Given the description of an element on the screen output the (x, y) to click on. 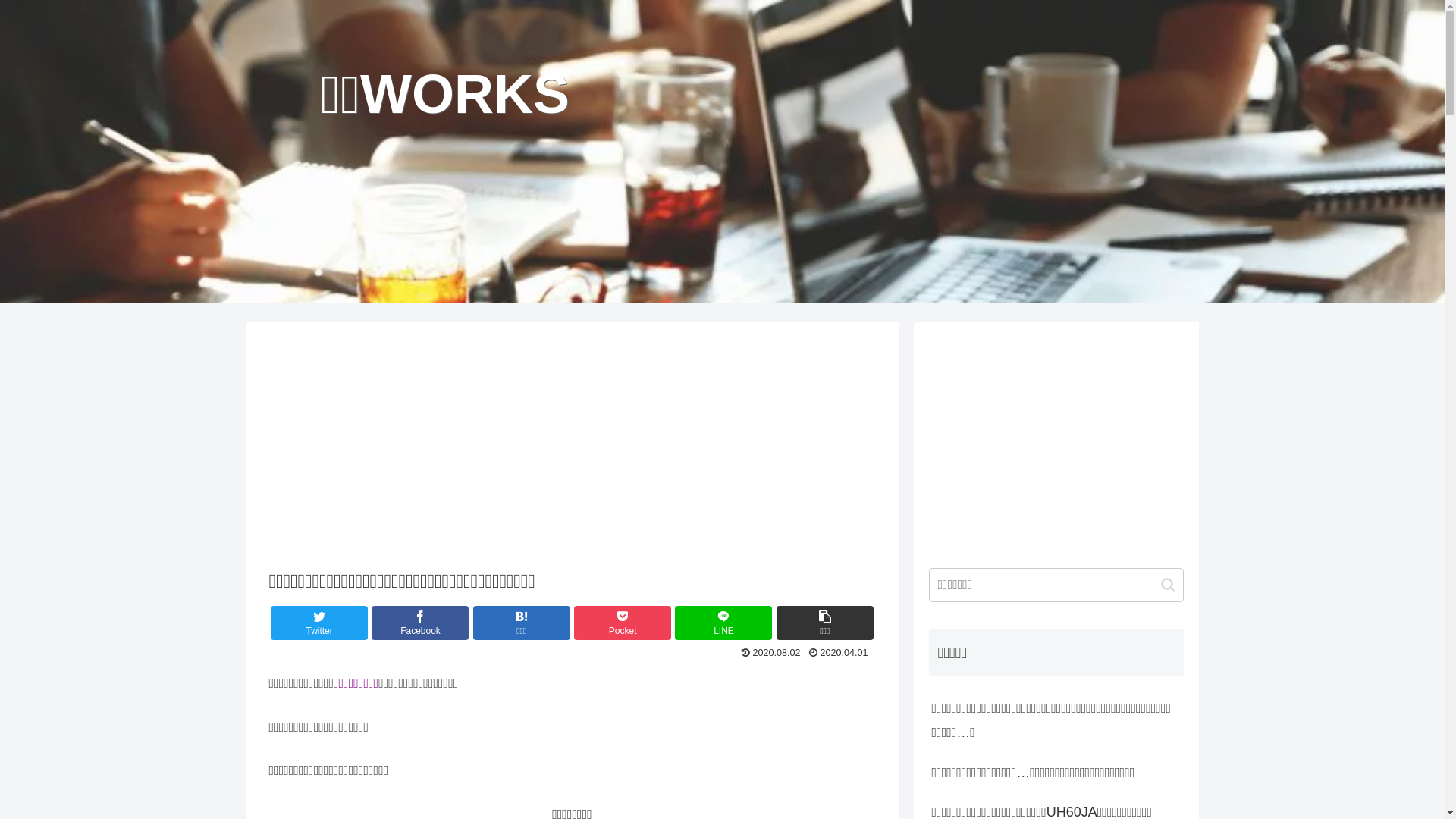
Facebook Element type: text (419, 622)
Pocket Element type: text (622, 622)
Twitter Element type: text (318, 622)
Advertisement Element type: hover (571, 443)
LINE Element type: text (722, 622)
Advertisement Element type: hover (1055, 442)
